Given the description of an element on the screen output the (x, y) to click on. 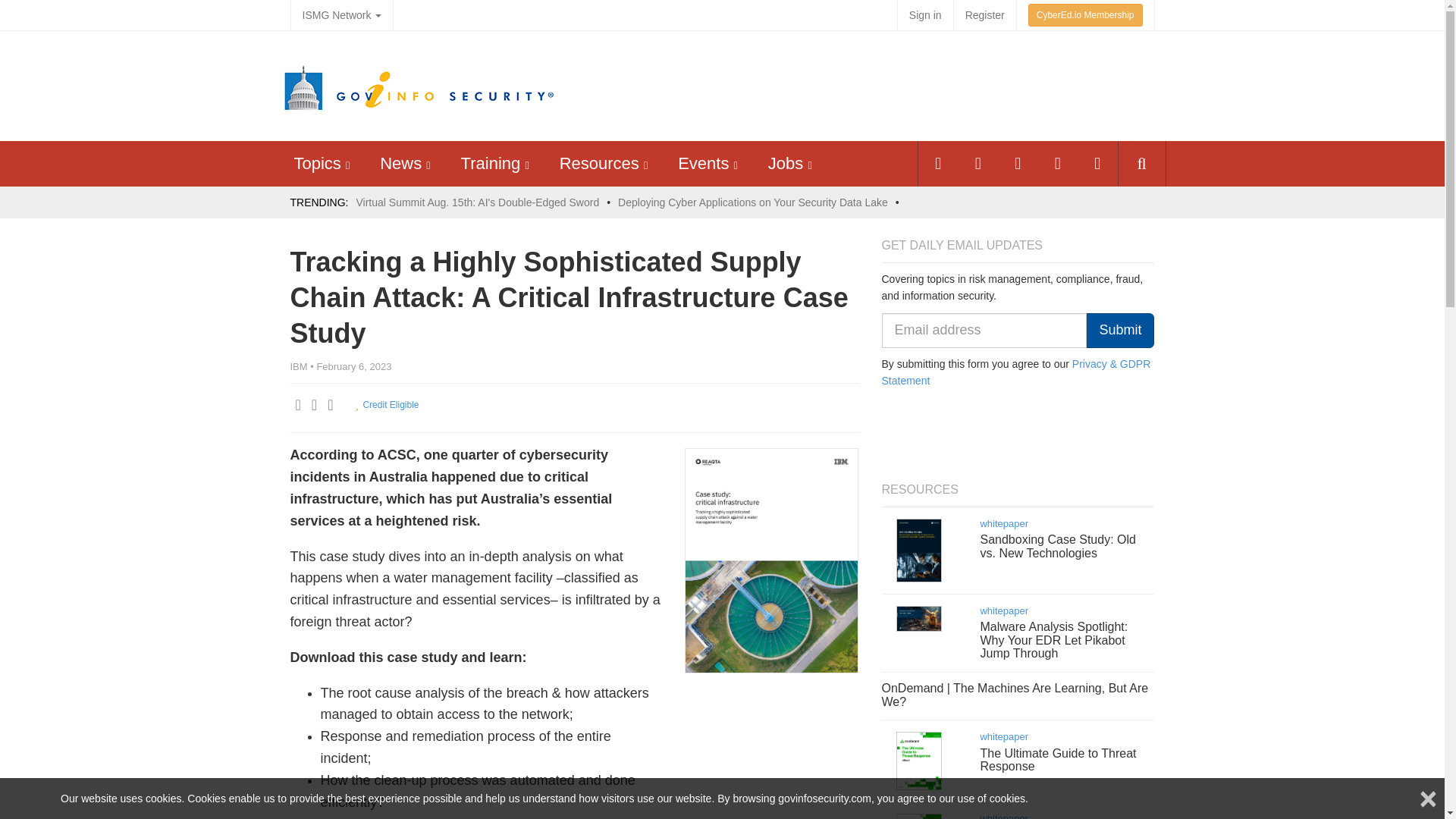
Topics (317, 162)
ISMG Network (341, 15)
CyberEd.io Membership (1084, 15)
Register (984, 15)
Sign in (925, 15)
